Given the description of an element on the screen output the (x, y) to click on. 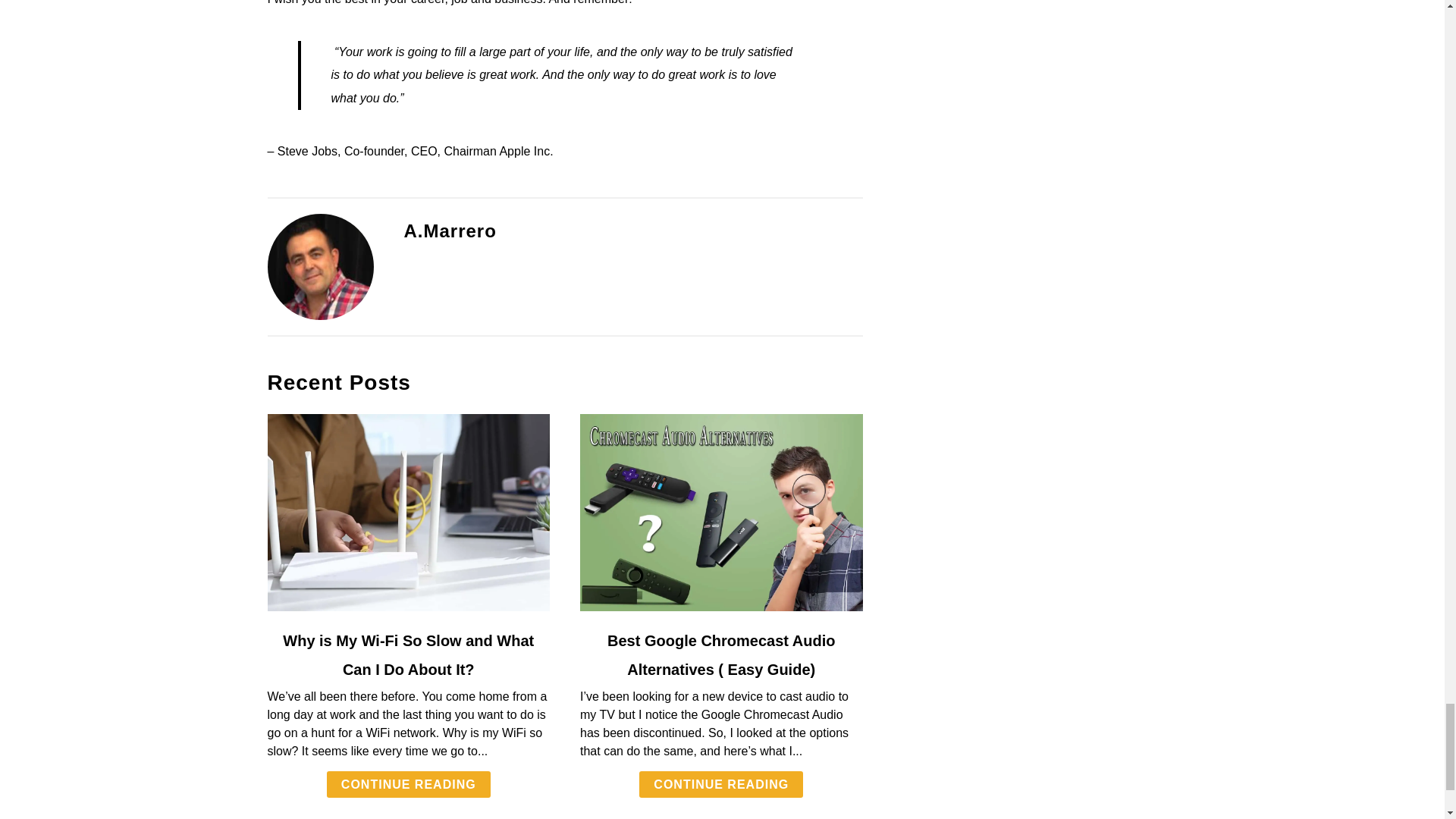
CONTINUE READING (408, 784)
CONTINUE READING (721, 784)
A.Marrero (449, 230)
Why is My Wi-Fi So Slow and What Can I Do About It? (408, 655)
link to Why is My Wi-Fi So Slow and What Can I Do About It? (408, 512)
